Given the description of an element on the screen output the (x, y) to click on. 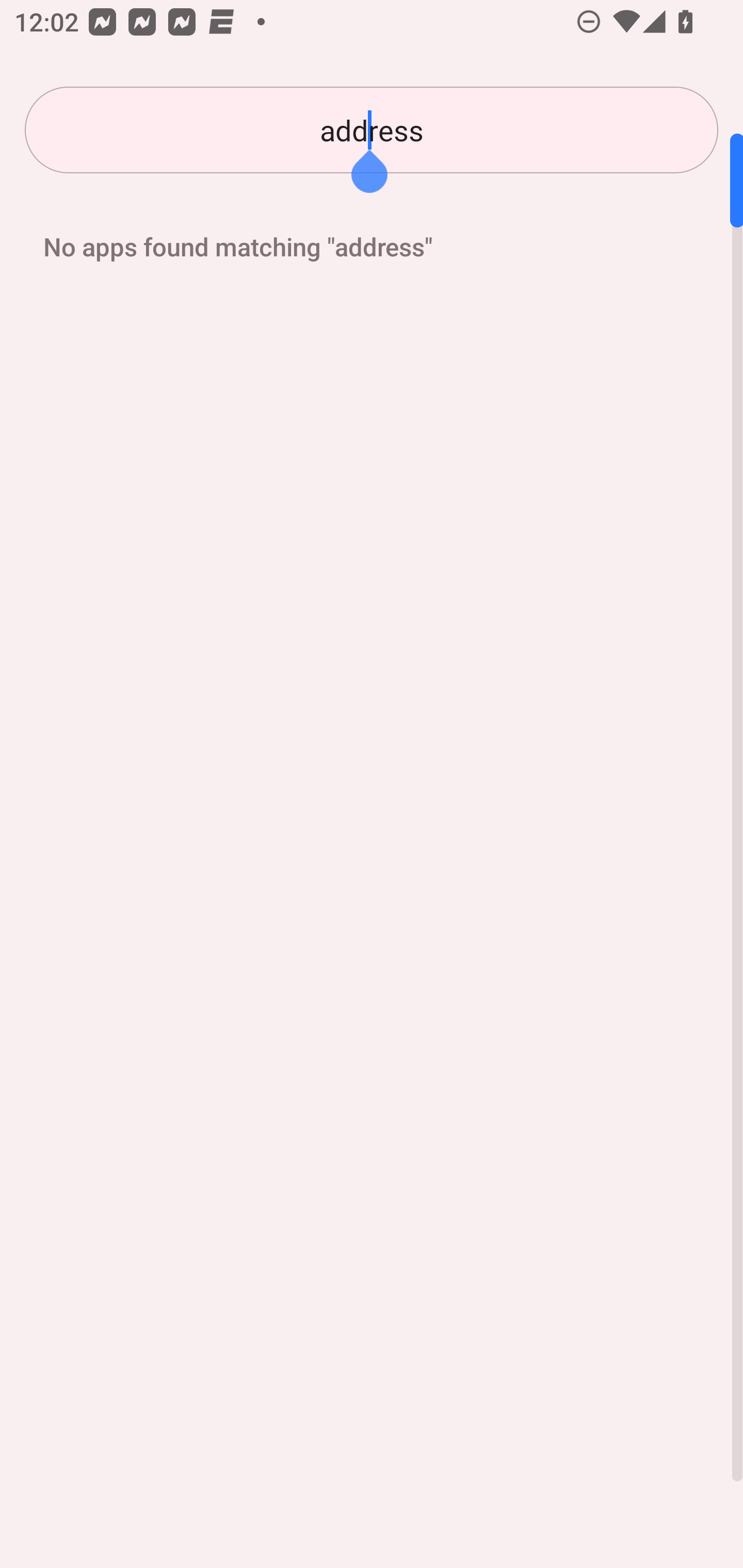
address (371, 130)
